Given the description of an element on the screen output the (x, y) to click on. 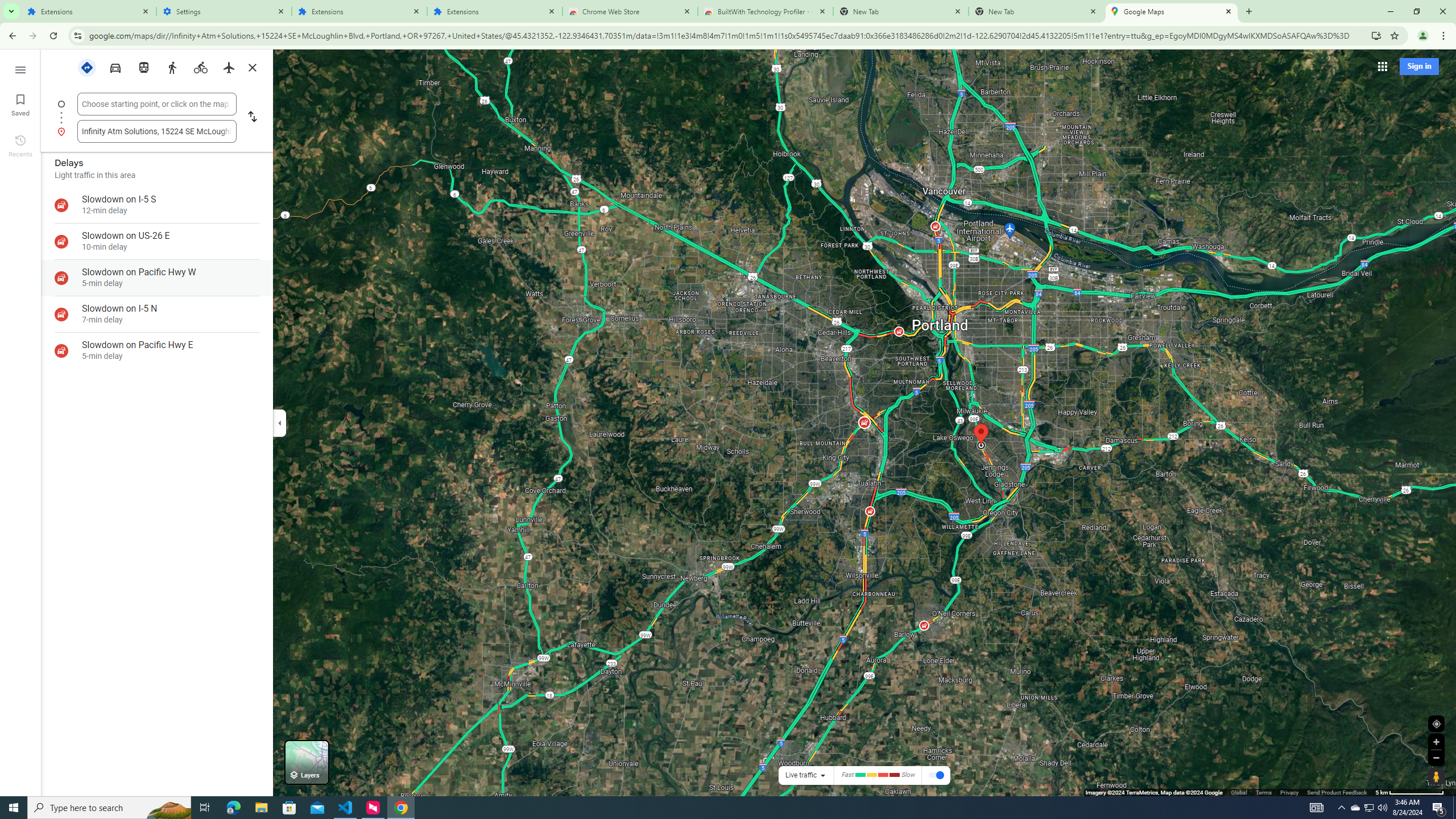
Recents (20, 145)
Extensions (88, 11)
500 m (1409, 792)
Extensions (359, 11)
Install Google Maps (1376, 35)
Choose starting point, or click on the map... (156, 103)
Extensions (494, 11)
